Given the description of an element on the screen output the (x, y) to click on. 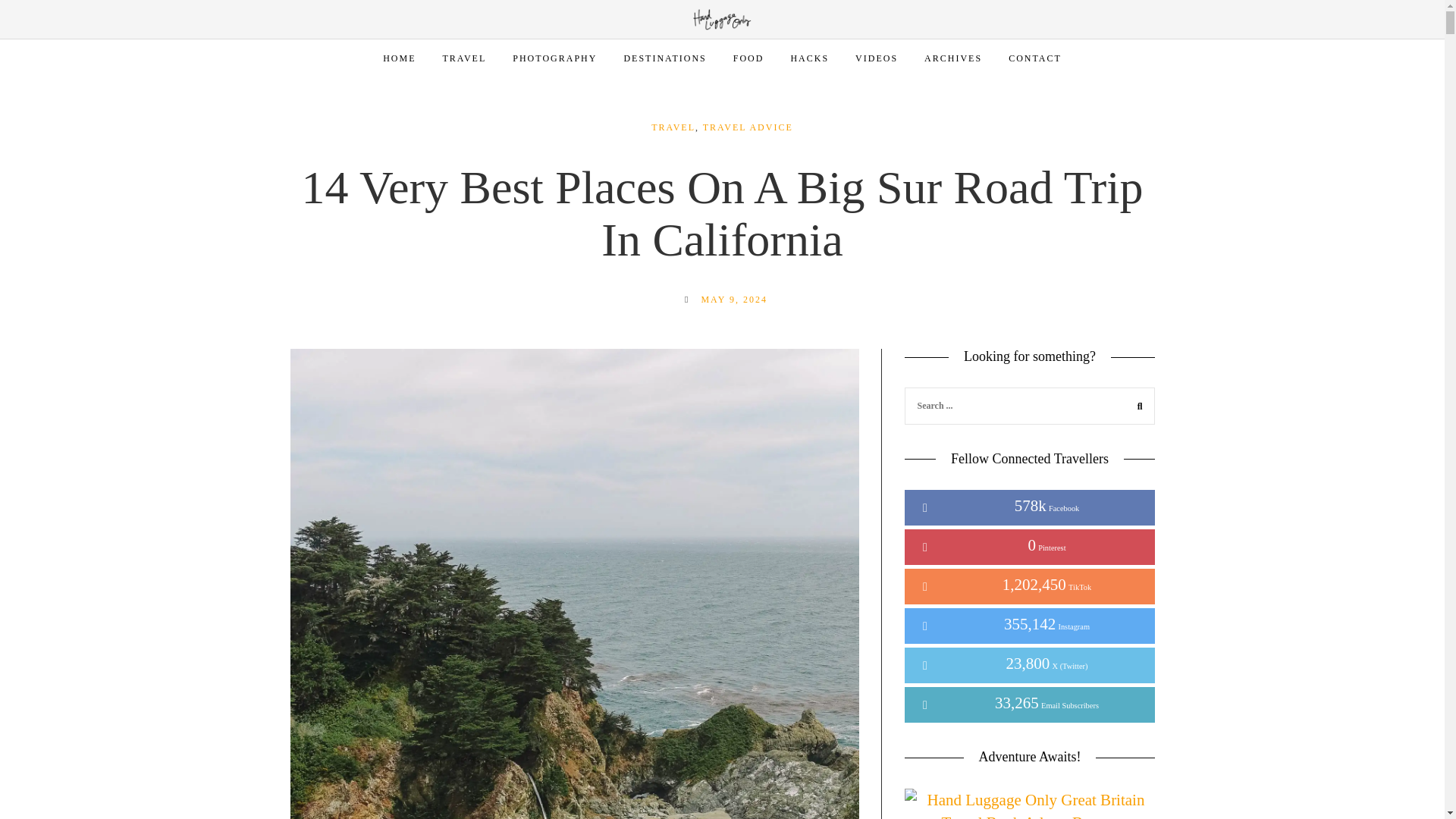
PHOTOGRAPHY (554, 58)
HOME (398, 58)
TRAVEL (464, 58)
May 9, 2024 (733, 299)
Search for : (1029, 405)
Hand Luggage Only (722, 18)
